Given the description of an element on the screen output the (x, y) to click on. 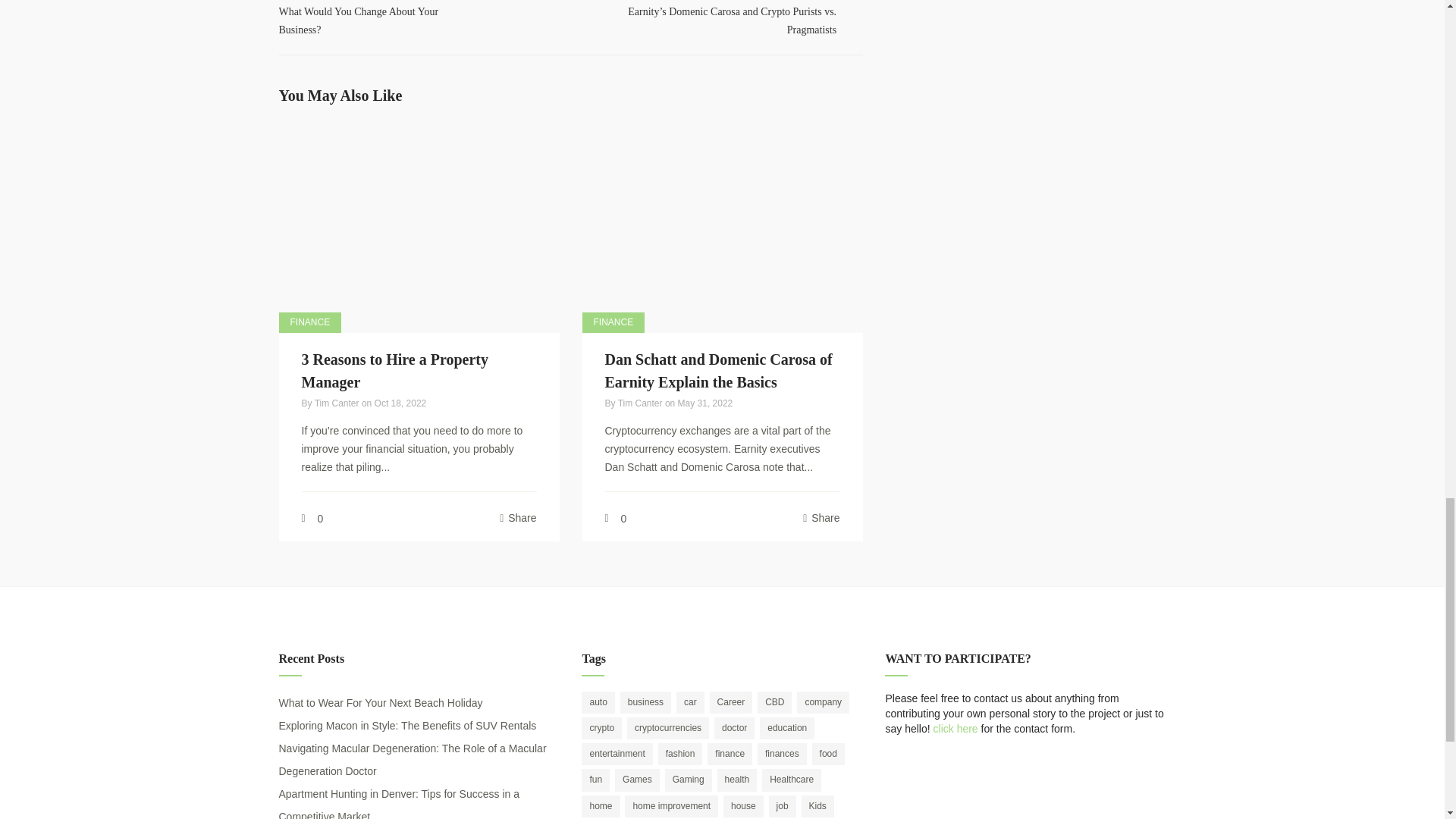
Tim Canter (337, 403)
3 Reasons to Hire a Property Manager (394, 370)
prev post (381, 23)
next post (381, 23)
FINANCE (732, 23)
